Given the description of an element on the screen output the (x, y) to click on. 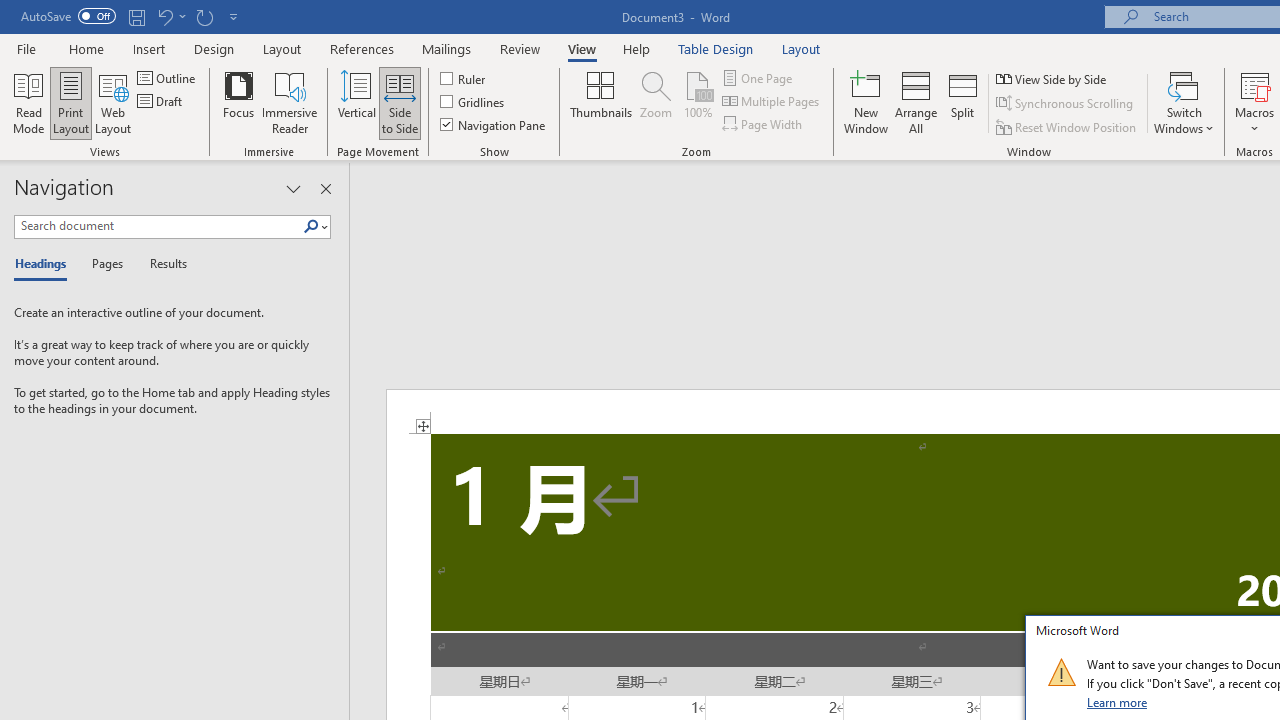
Ruler (463, 78)
Split (963, 102)
Undo Increase Indent (170, 15)
Learn more (1118, 702)
Focus (238, 102)
Synchronous Scrolling (1066, 103)
100% (698, 102)
